Given the description of an element on the screen output the (x, y) to click on. 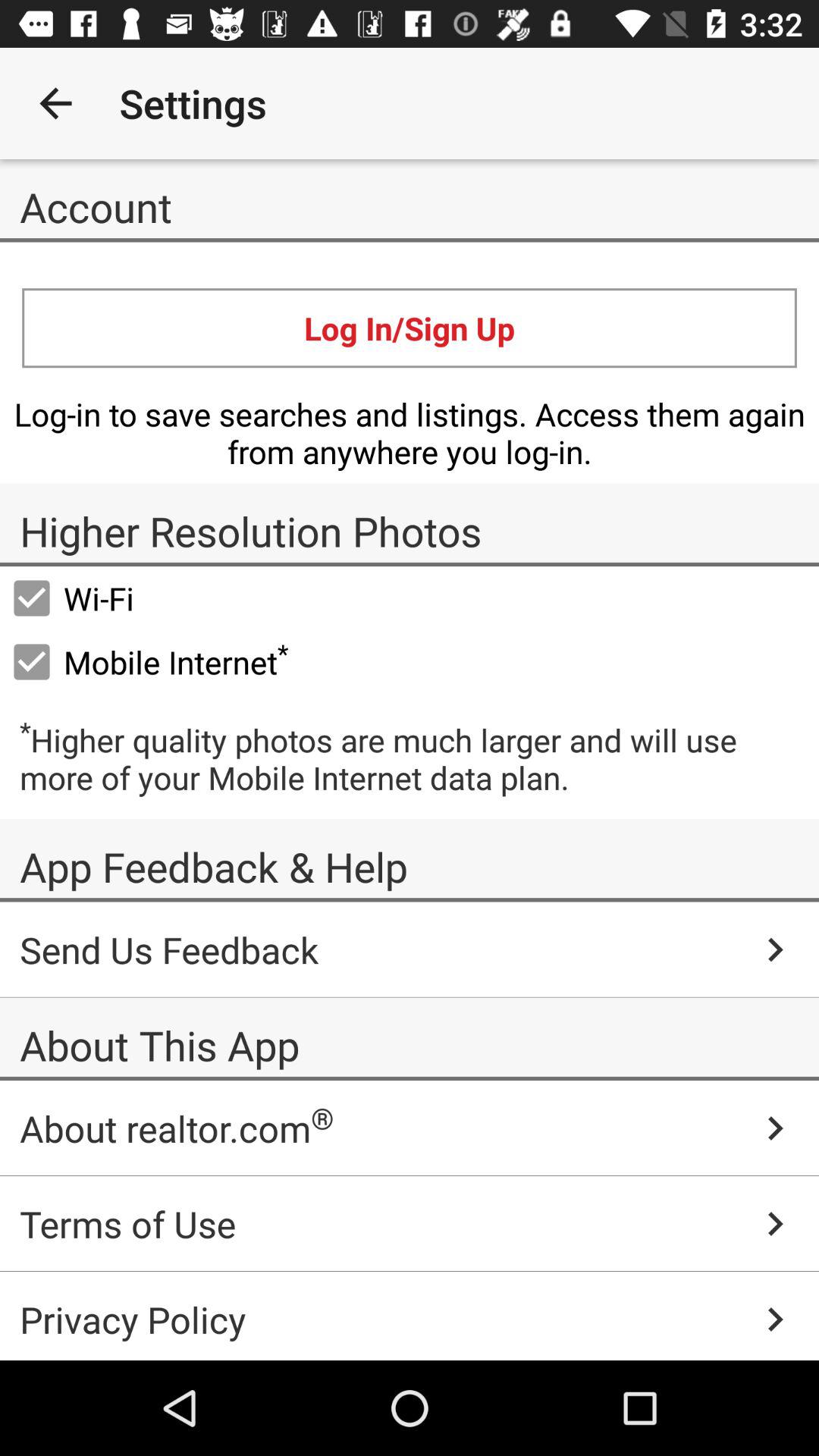
tap icon next to the settings icon (55, 103)
